Given the description of an element on the screen output the (x, y) to click on. 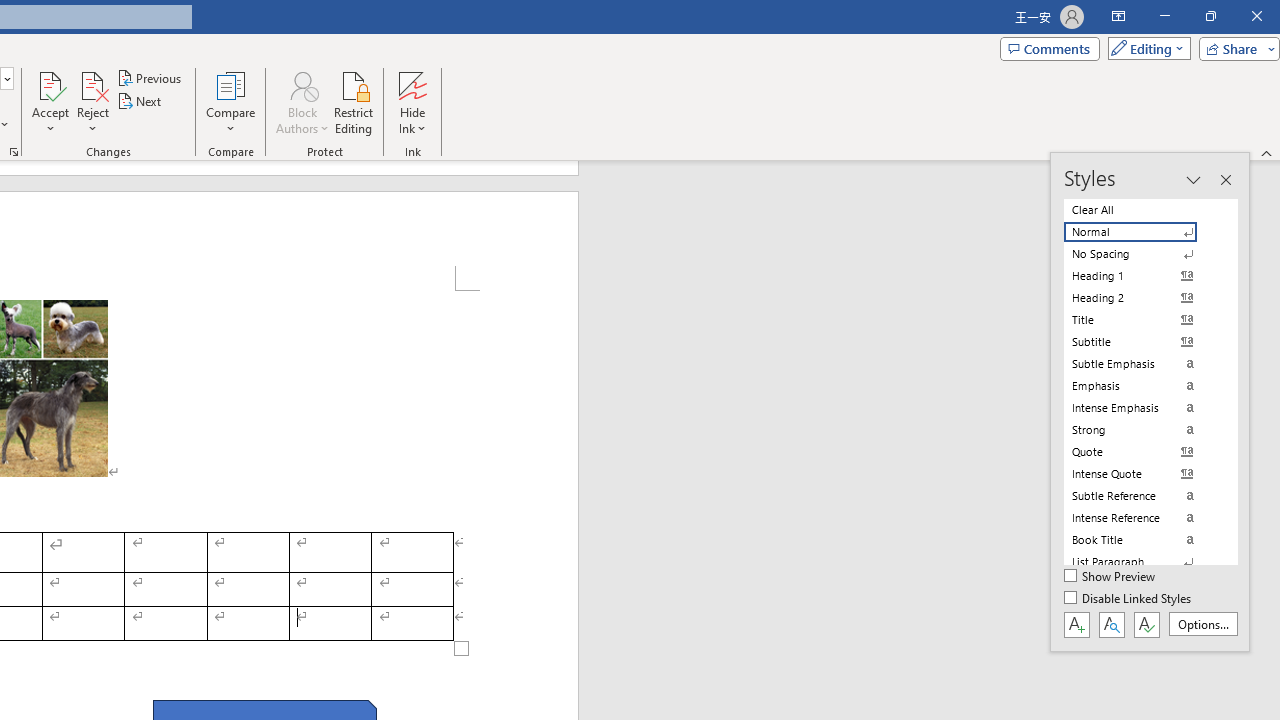
Open (6, 78)
Editing (1144, 47)
Normal (1142, 232)
List Paragraph (1142, 561)
Class: MsoCommandBar (1149, 401)
Next (140, 101)
Subtle Emphasis (1142, 363)
Block Authors (302, 102)
Accept (50, 102)
Intense Emphasis (1142, 407)
Disable Linked Styles (1129, 599)
